Given the description of an element on the screen output the (x, y) to click on. 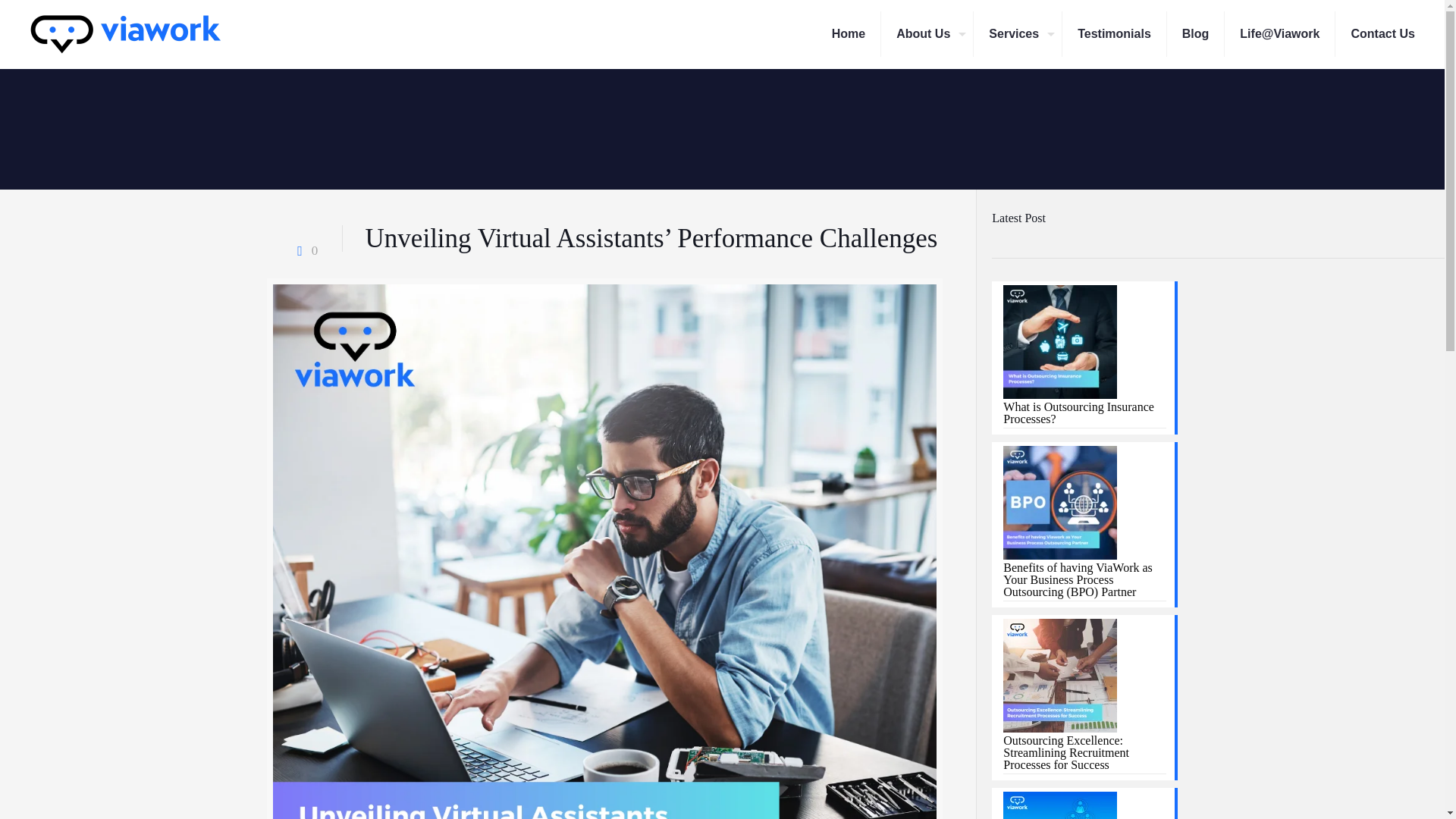
viawork (125, 33)
Blog (1196, 33)
Testimonials (1114, 33)
About Us (927, 33)
0 (303, 250)
What is Outsourcing Insurance Processes? (1084, 414)
Services (1018, 33)
Contact Us (1382, 33)
Home (848, 33)
